Given the description of an element on the screen output the (x, y) to click on. 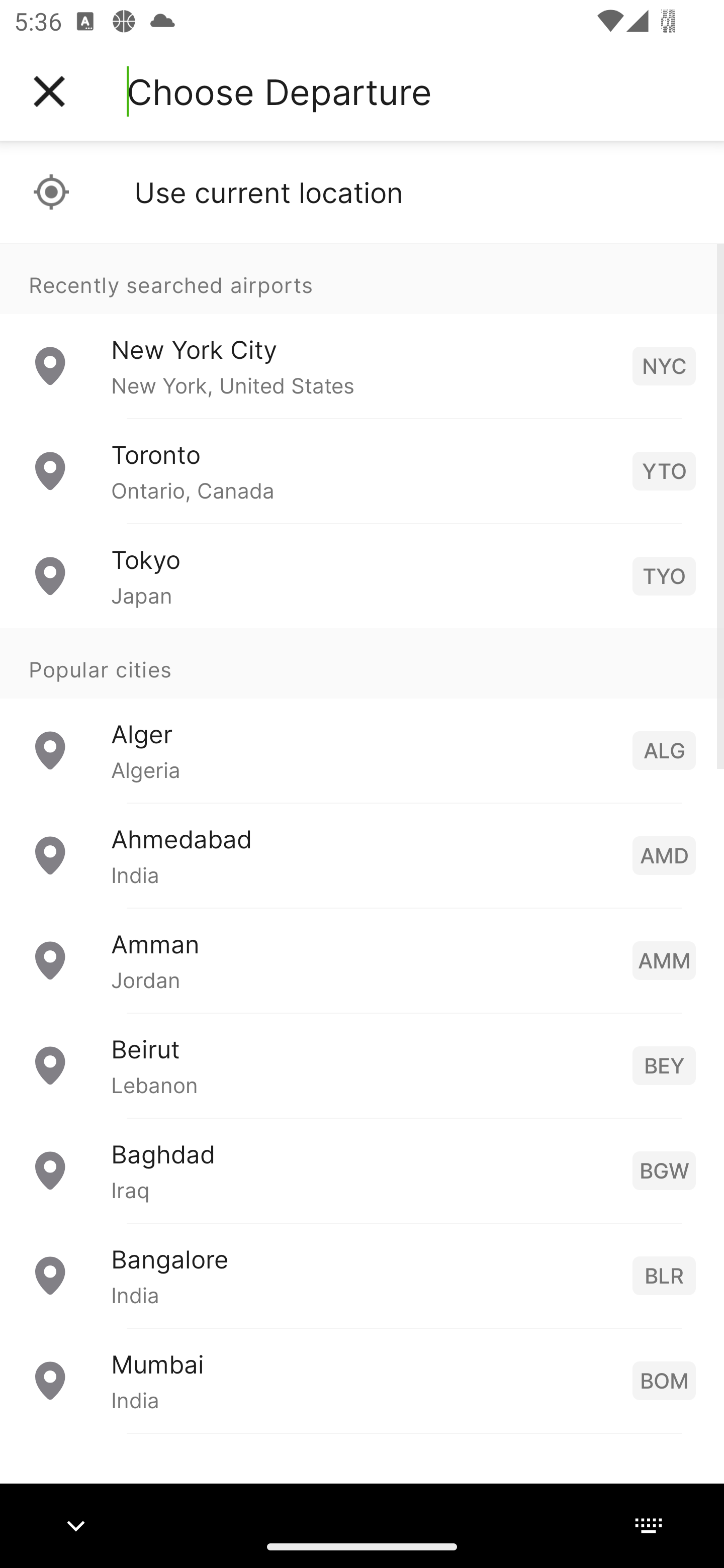
Choose Departure (279, 91)
Use current location (362, 192)
Recently searched airports (362, 278)
Toronto Ontario, Canada YTO (362, 470)
Tokyo Japan TYO (362, 575)
Popular cities Alger Algeria ALG (362, 715)
Popular cities (362, 663)
Ahmedabad India AMD (362, 854)
Amman Jordan AMM (362, 959)
Beirut Lebanon BEY (362, 1064)
Baghdad Iraq BGW (362, 1170)
Bangalore India BLR (362, 1275)
Mumbai India BOM (362, 1380)
